Given the description of an element on the screen output the (x, y) to click on. 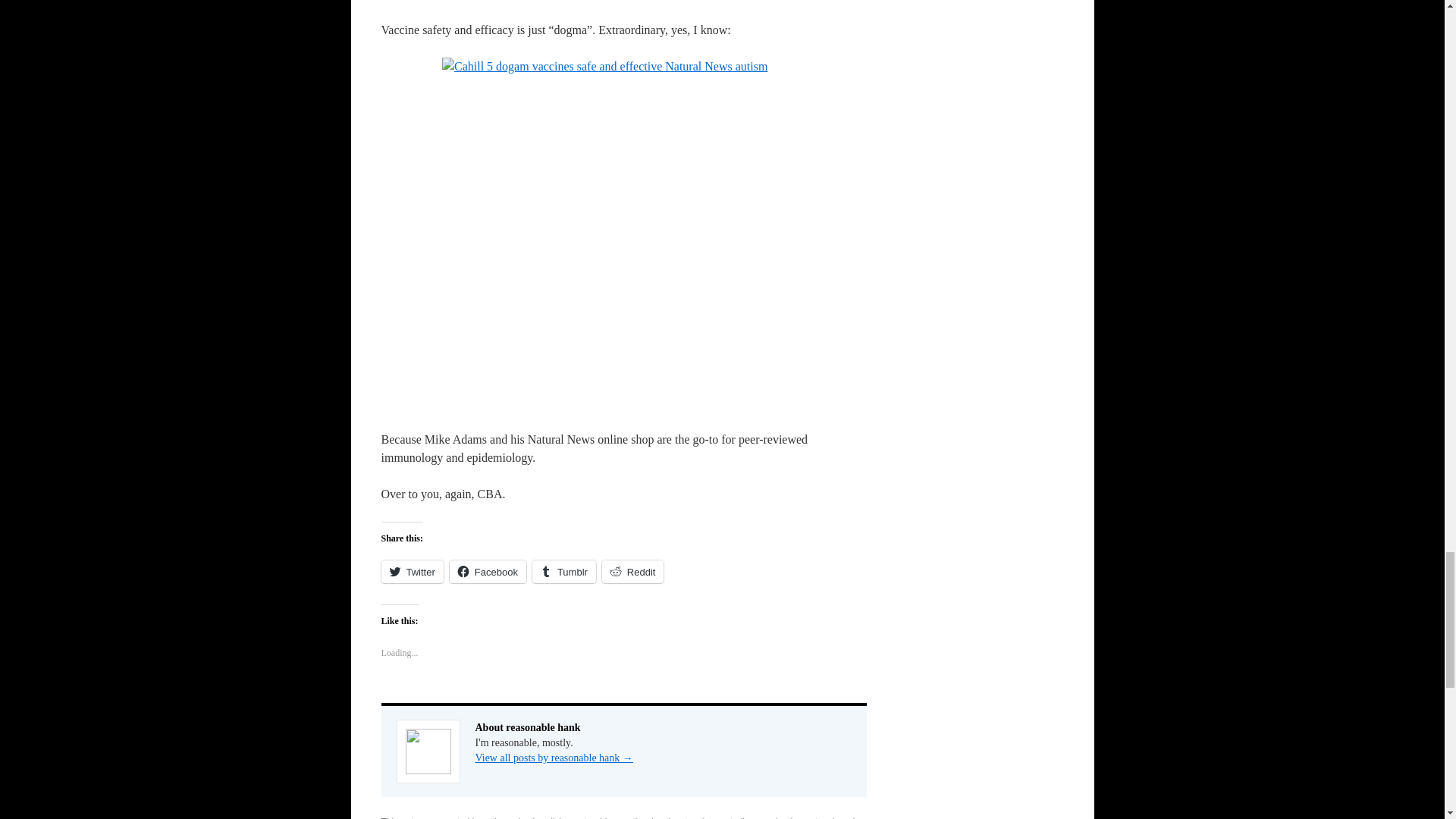
Click to share on Twitter (411, 571)
skeptic (660, 817)
Facebook (487, 571)
Tumblr (563, 571)
Reddit (632, 571)
anti-vaccination dishonesty (535, 817)
Click to share on Reddit (632, 571)
stop the australian vaccination network (758, 817)
Click to share on Tumblr (563, 571)
chiropractic (618, 817)
Twitter (411, 571)
Click to share on Facebook (487, 571)
